Given the description of an element on the screen output the (x, y) to click on. 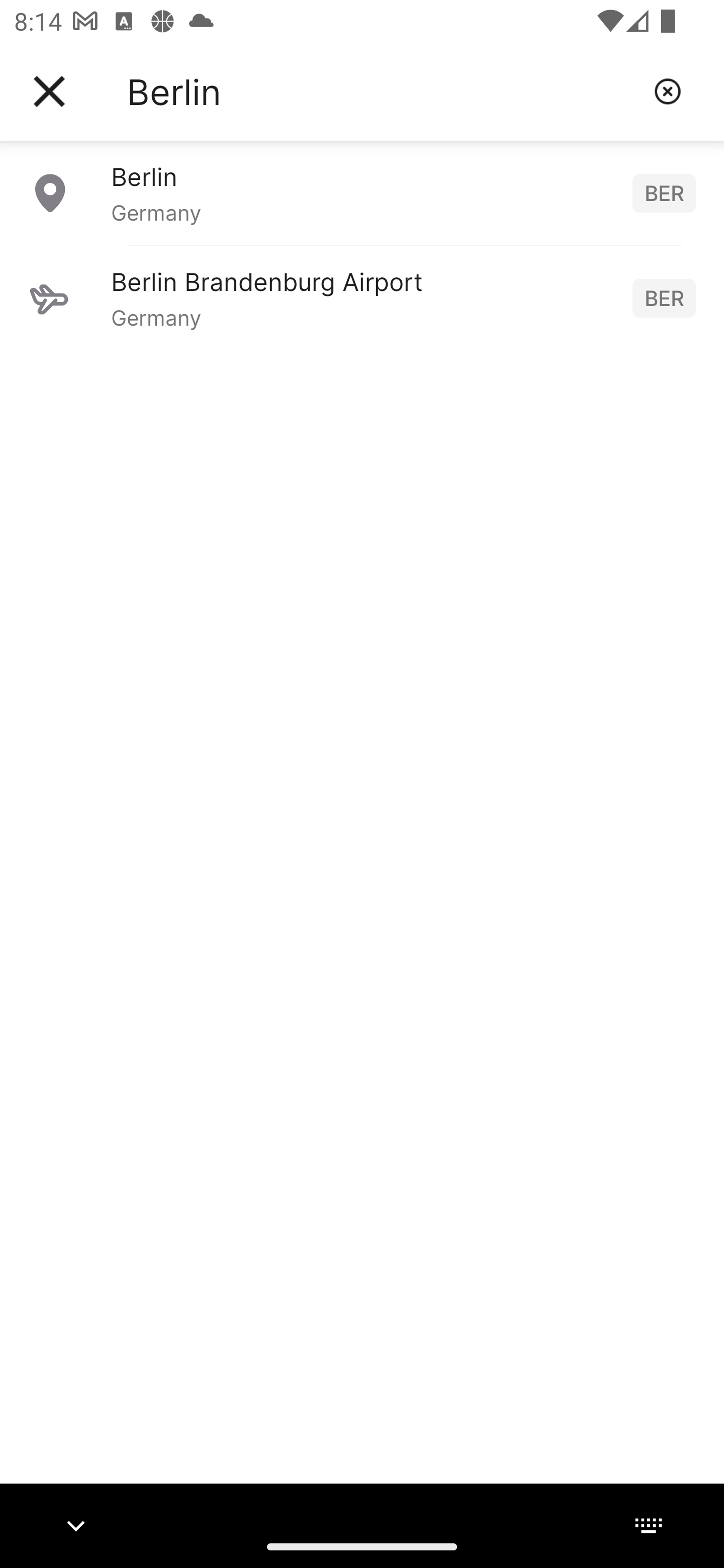
Berlin (382, 91)
Berlin Germany BER (362, 192)
Berlin Brandenburg Airport Germany BER (362, 297)
